Given the description of an element on the screen output the (x, y) to click on. 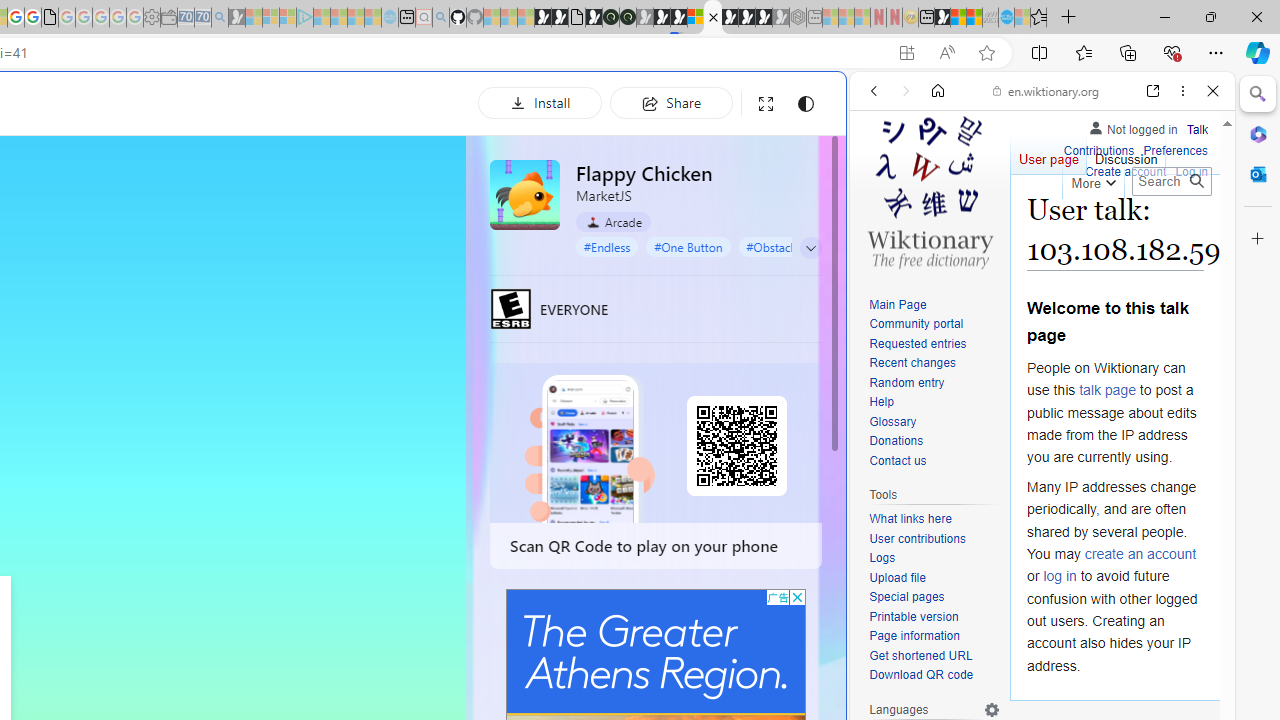
Donations (896, 441)
Tabs you've opened (276, 265)
google_privacy_policy_zh-CN.pdf (49, 17)
What links here (934, 519)
App available. Install Flappy Chicken (906, 53)
Help (934, 403)
Log in (1191, 169)
Get shortened URL (920, 655)
